Given the description of an element on the screen output the (x, y) to click on. 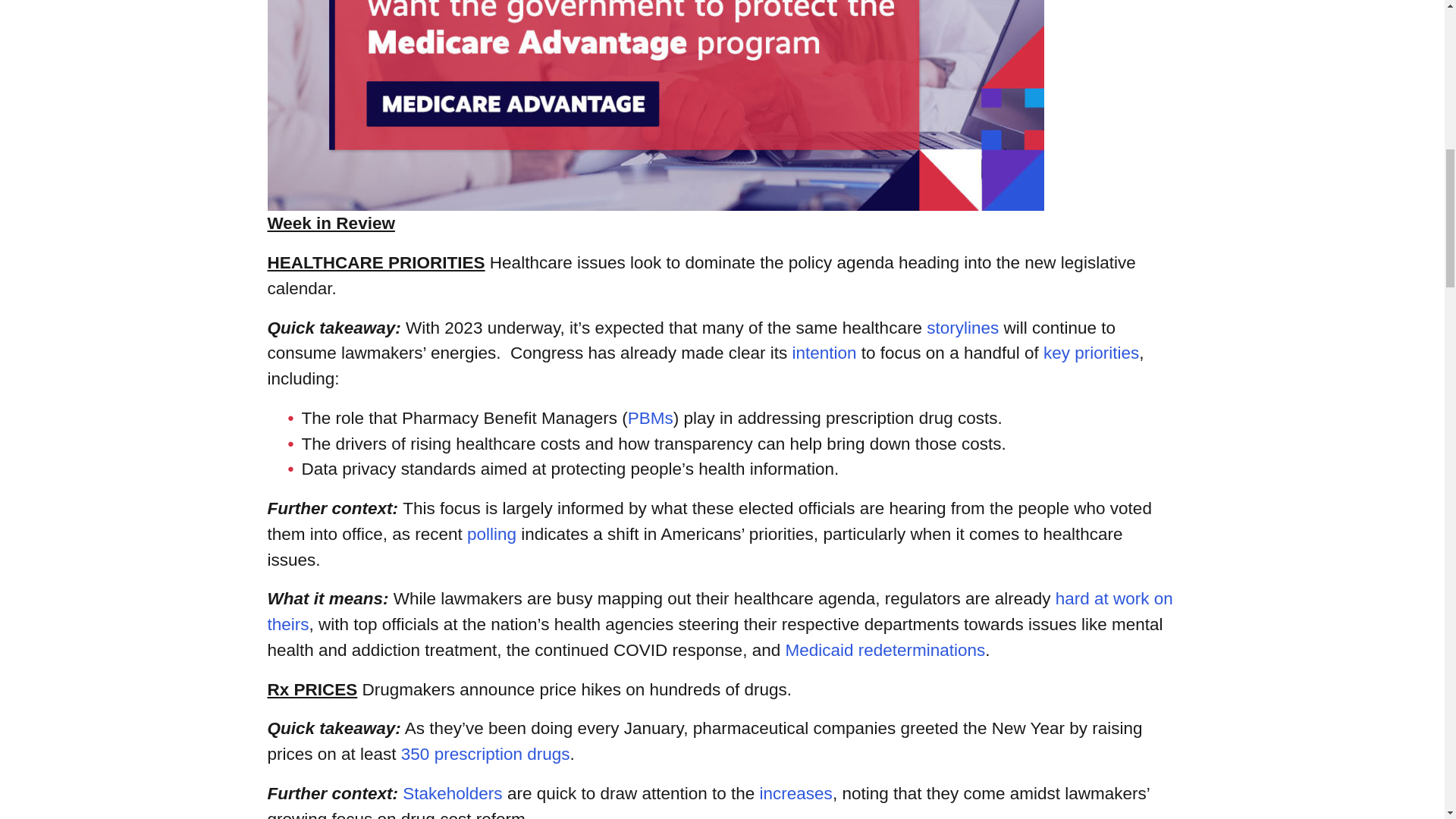
PBMs (649, 417)
Stakeholders (452, 793)
polling (491, 533)
Medicaid redeterminations (884, 650)
key priorities (1090, 352)
increases (796, 793)
intention (824, 352)
storylines (962, 327)
hard at work on theirs (719, 610)
350 prescription drugs (485, 753)
